Given the description of an element on the screen output the (x, y) to click on. 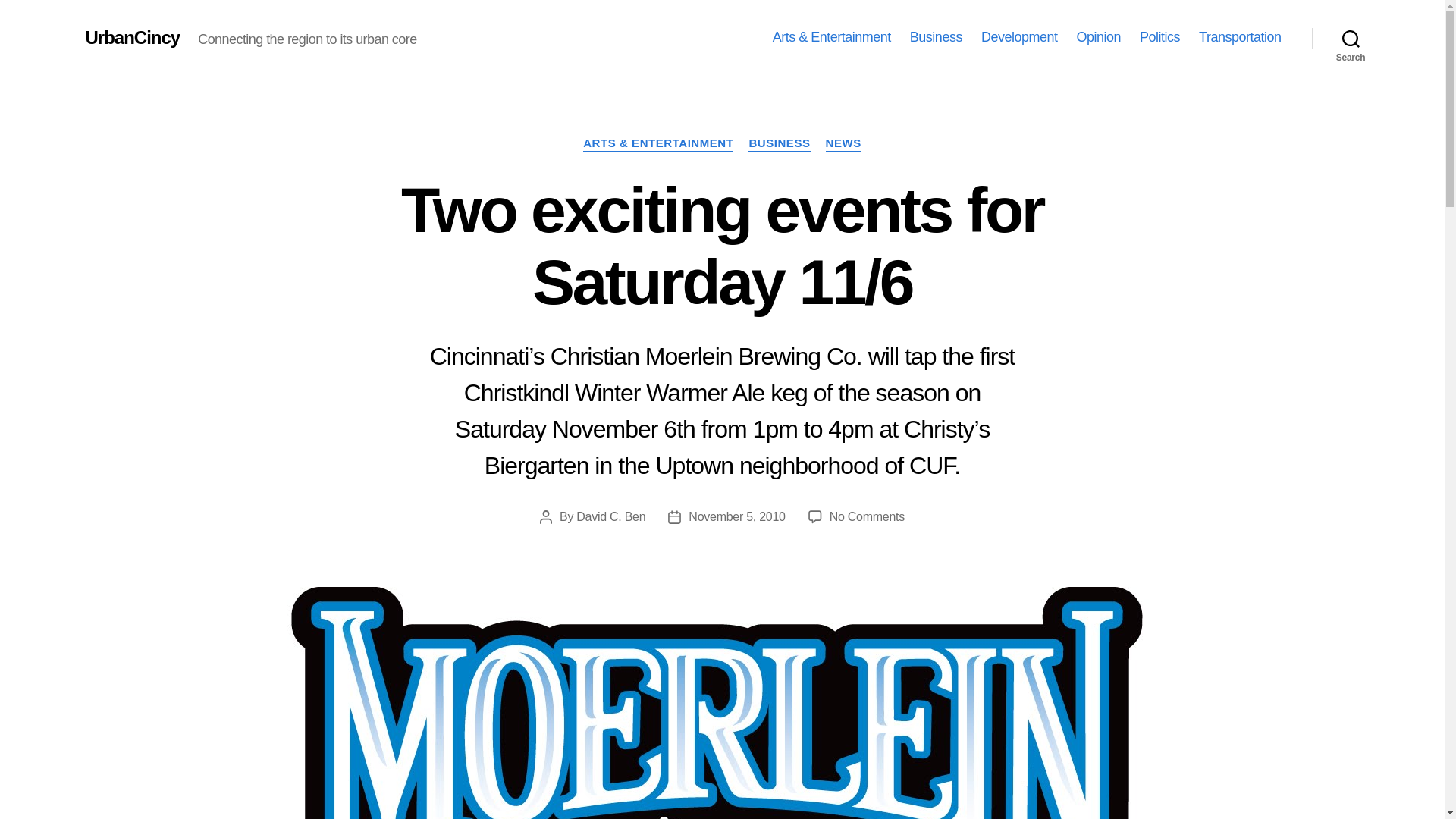
Opinion (1098, 37)
Transportation (1239, 37)
Politics (1159, 37)
NEWS (843, 143)
David C. Ben (610, 516)
UrbanCincy (131, 37)
BUSINESS (778, 143)
Business (936, 37)
Development (1019, 37)
Search (1350, 37)
